Given the description of an element on the screen output the (x, y) to click on. 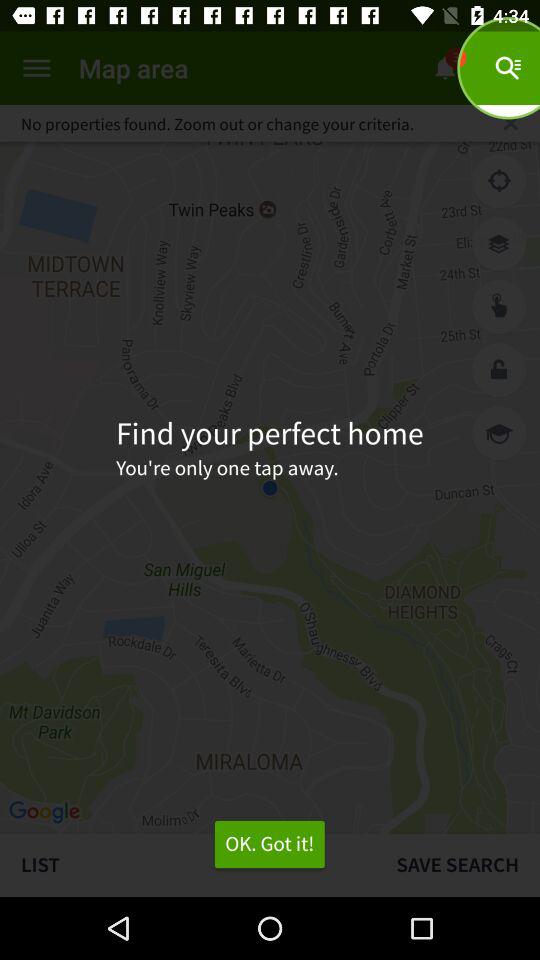
current location (499, 181)
